Given the description of an element on the screen output the (x, y) to click on. 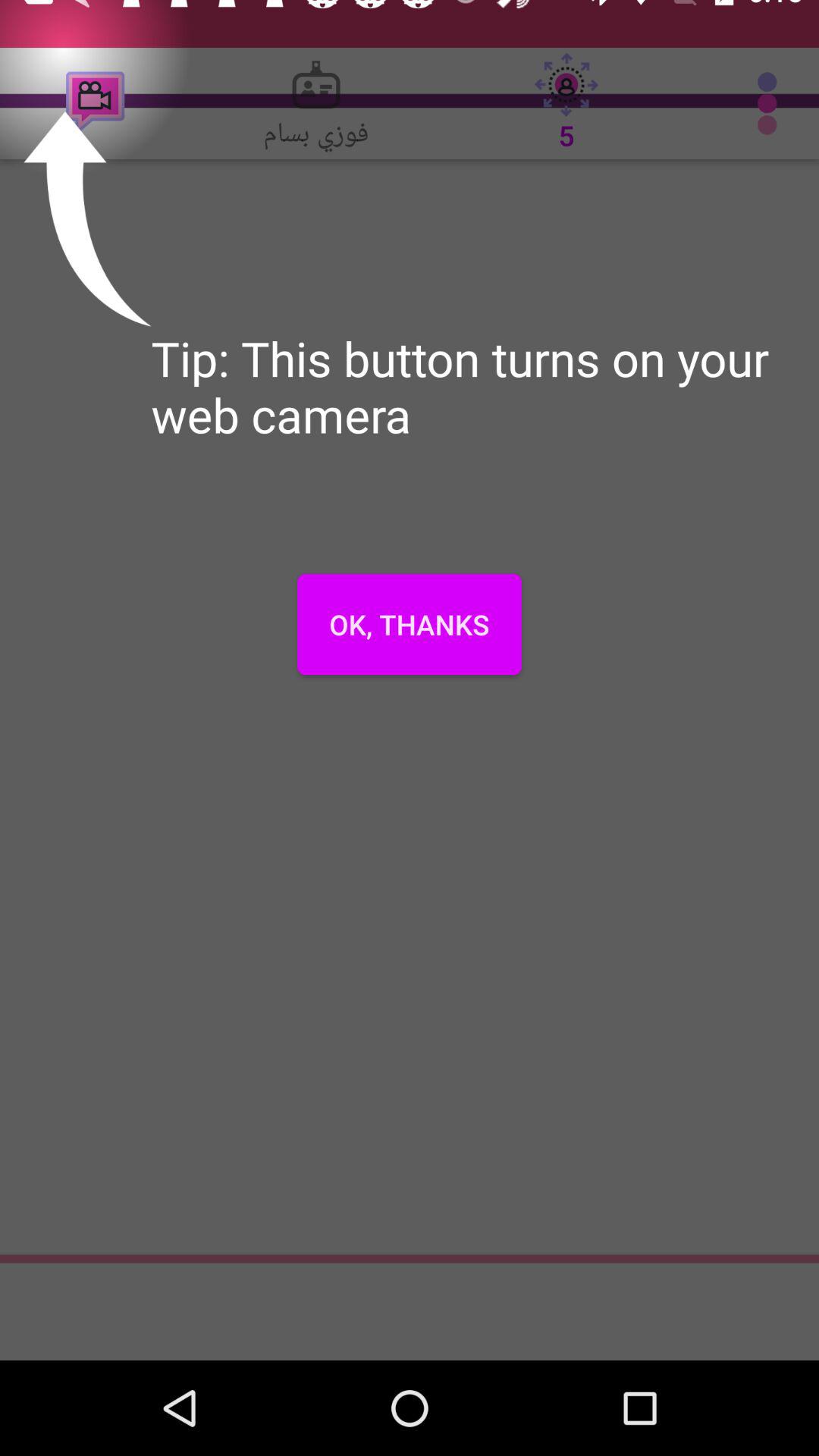
scroll until the ok, thanks item (409, 624)
